Given the description of an element on the screen output the (x, y) to click on. 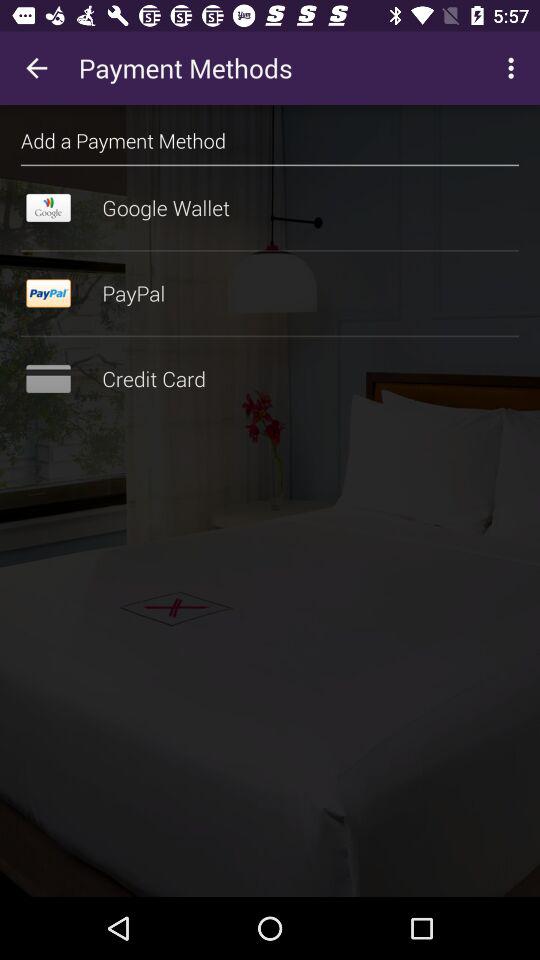
click the icon below paypal icon (270, 336)
